Given the description of an element on the screen output the (x, y) to click on. 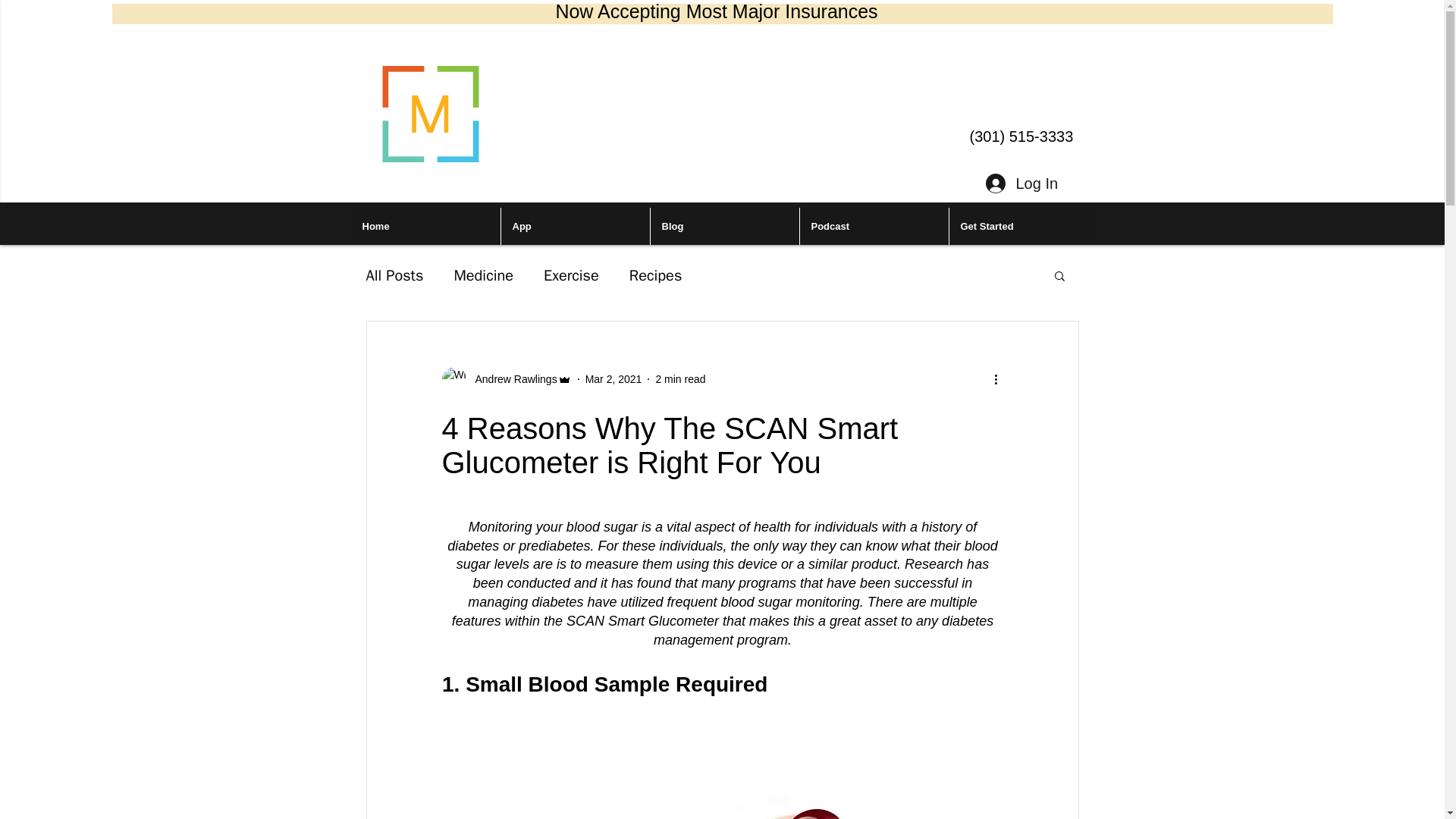
Get Started (1022, 226)
Medicine (482, 275)
Andrew Rawlings (510, 379)
Home (424, 226)
App (574, 226)
Exercise (570, 275)
Log In (1019, 183)
Recipes (655, 275)
2 min read (679, 378)
Andrew Rawlings (505, 378)
